Given the description of an element on the screen output the (x, y) to click on. 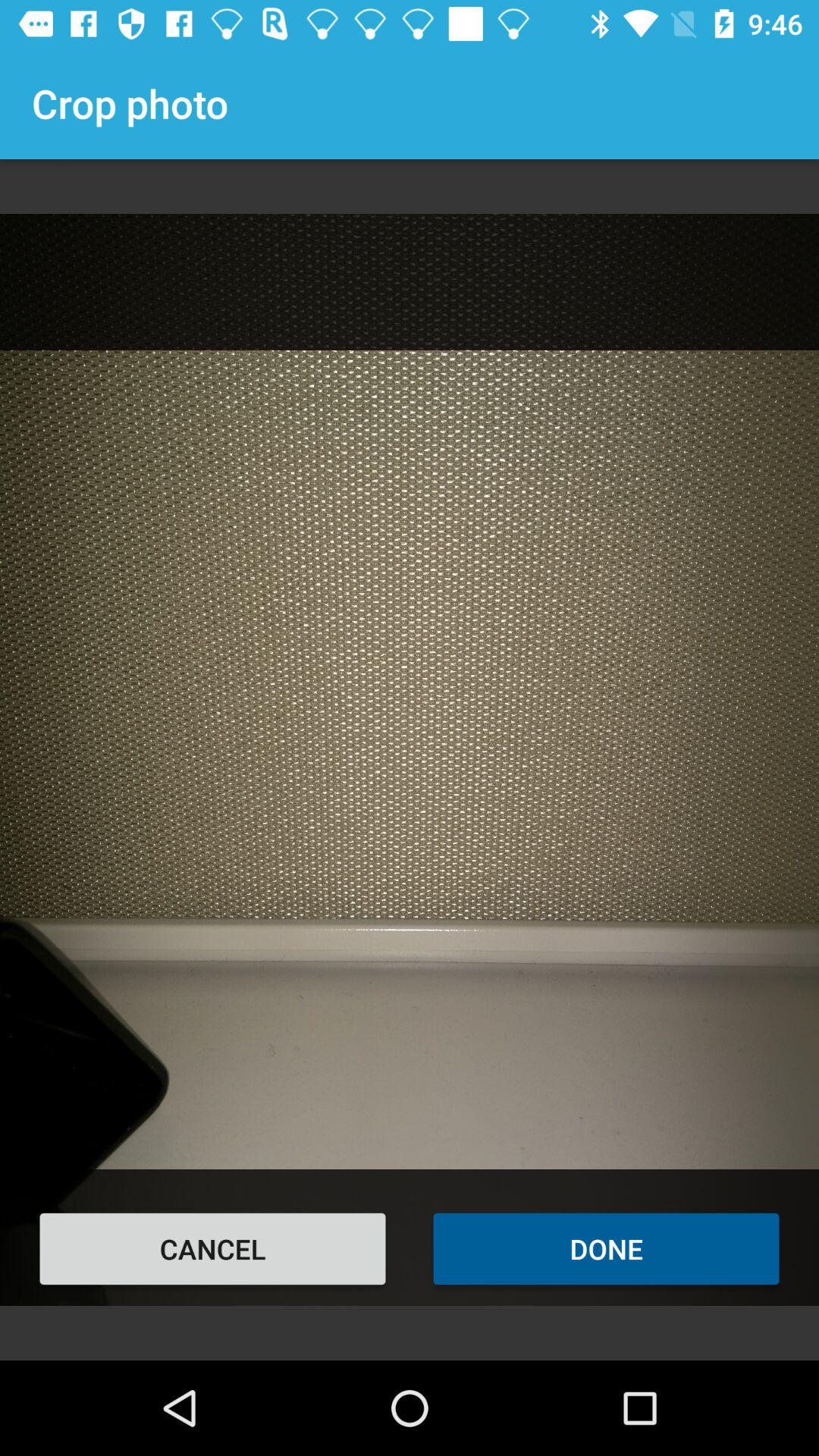
click the cancel at the bottom left corner (212, 1248)
